Given the description of an element on the screen output the (x, y) to click on. 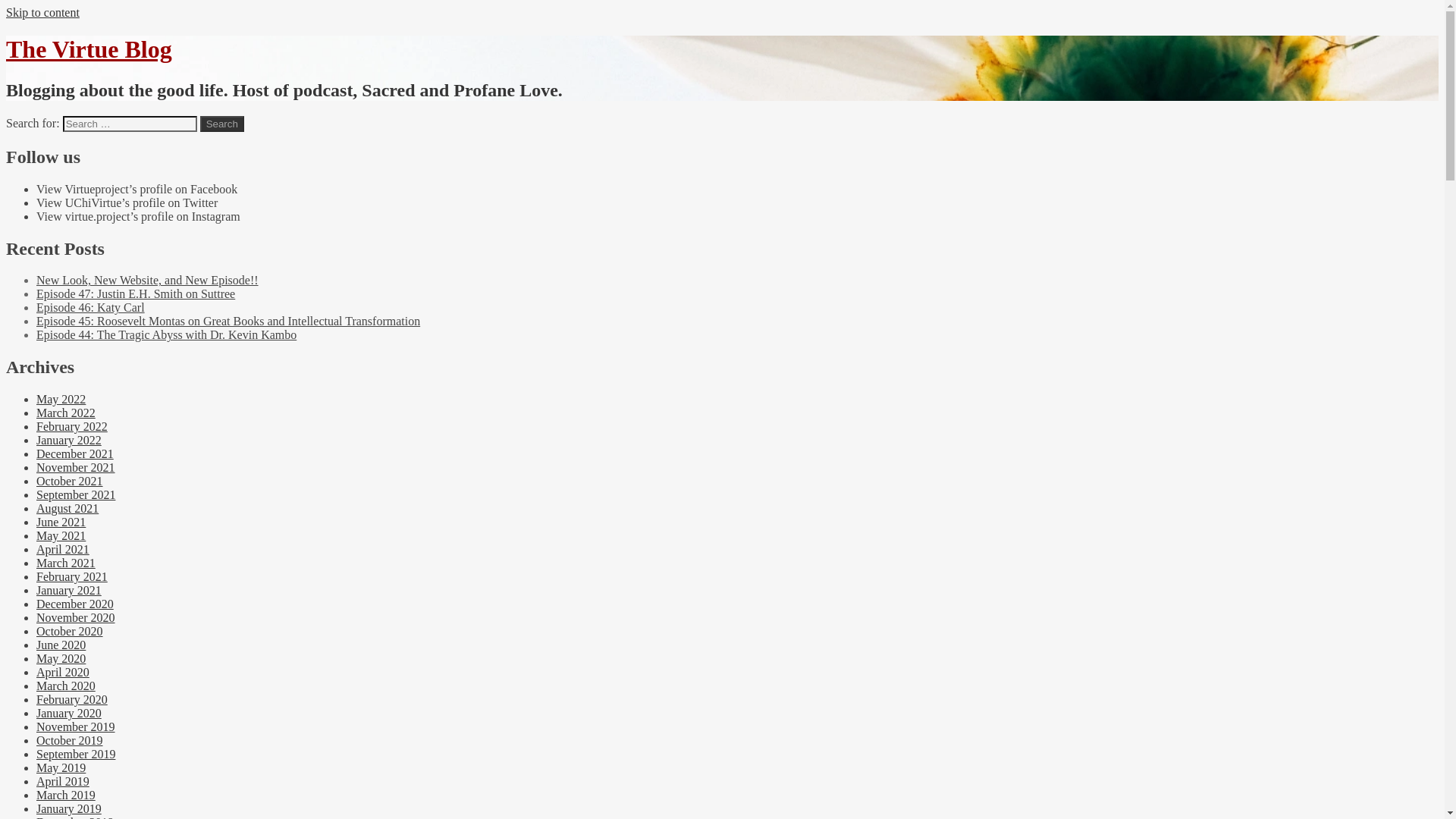
October 2021 (69, 481)
January 2019 (68, 808)
December 2018 (74, 817)
Search (222, 123)
The Virtue Blog (88, 49)
November 2019 (75, 726)
New Look, New Website, and New Episode!! (147, 279)
March 2020 (66, 685)
March 2021 (66, 562)
January 2022 (68, 440)
